Given the description of an element on the screen output the (x, y) to click on. 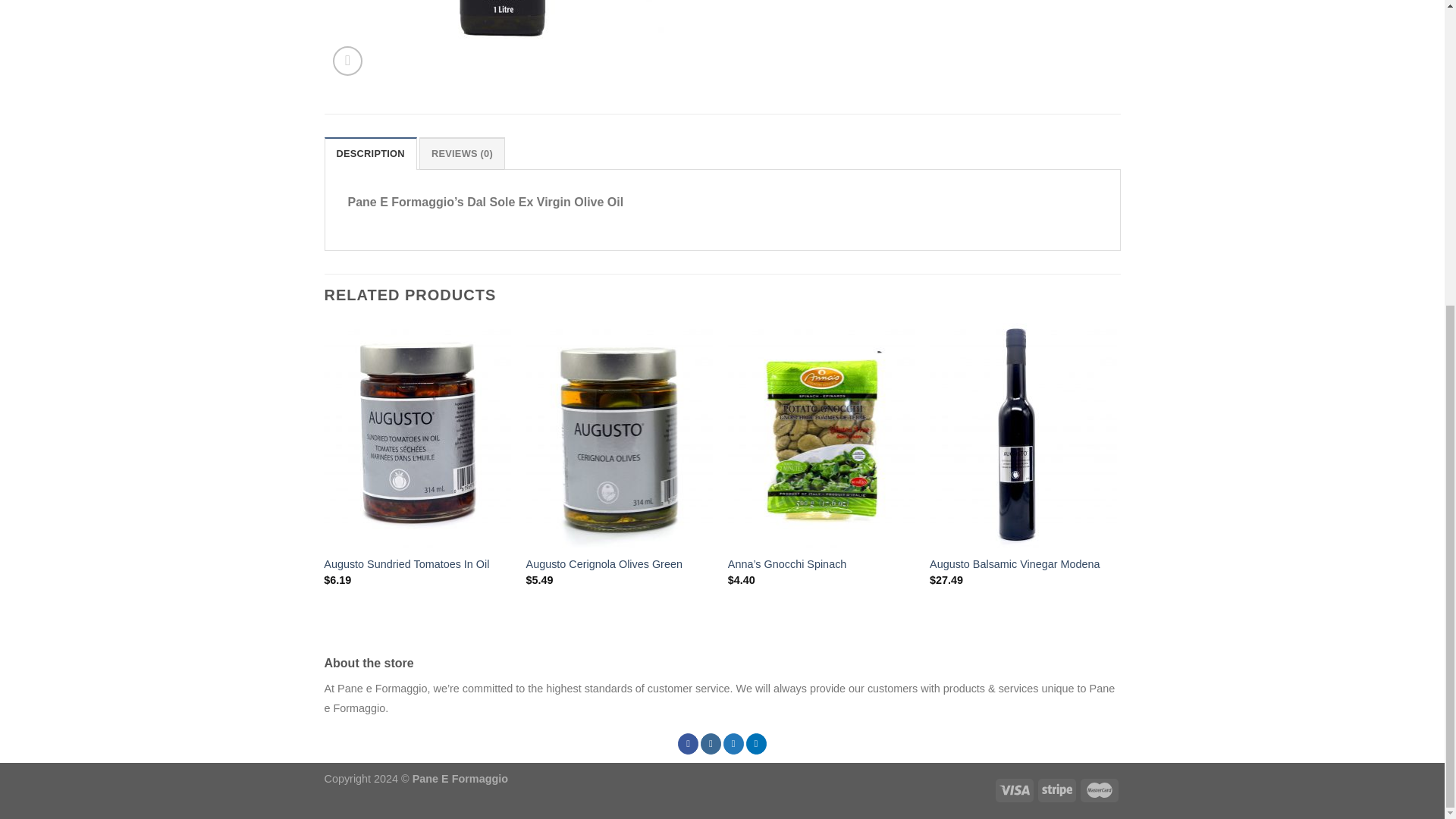
Follow on LinkedIn (756, 743)
Follow on Instagram (710, 743)
Follow on Facebook (688, 743)
DESCRIPTION (370, 152)
Follow on Twitter (733, 743)
Zoom (347, 60)
